Given the description of an element on the screen output the (x, y) to click on. 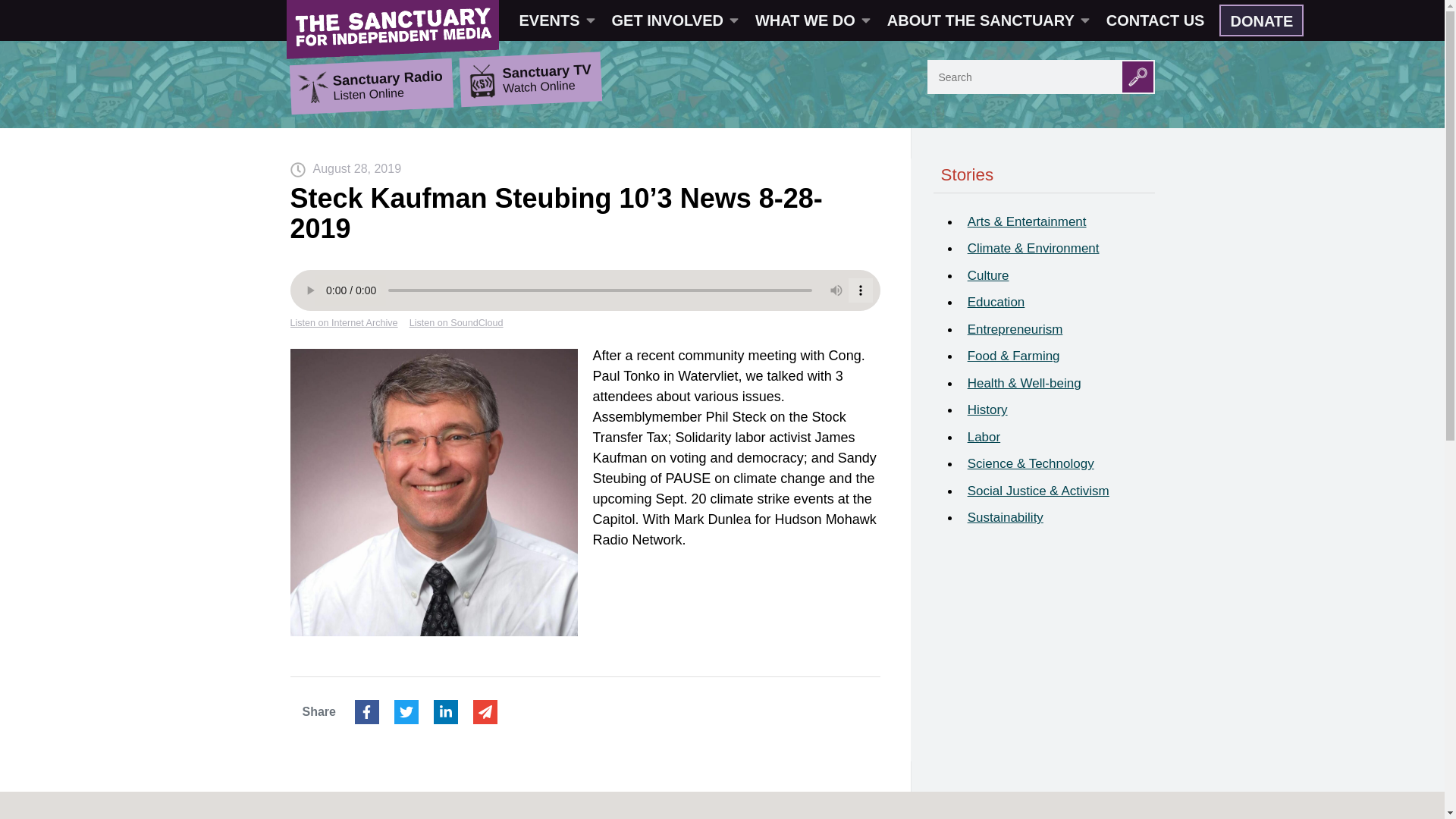
GET INVOLVED (673, 20)
ABOUT THE SANCTUARY (987, 20)
EVENTS (555, 20)
WHAT WE DO (811, 20)
